Given the description of an element on the screen output the (x, y) to click on. 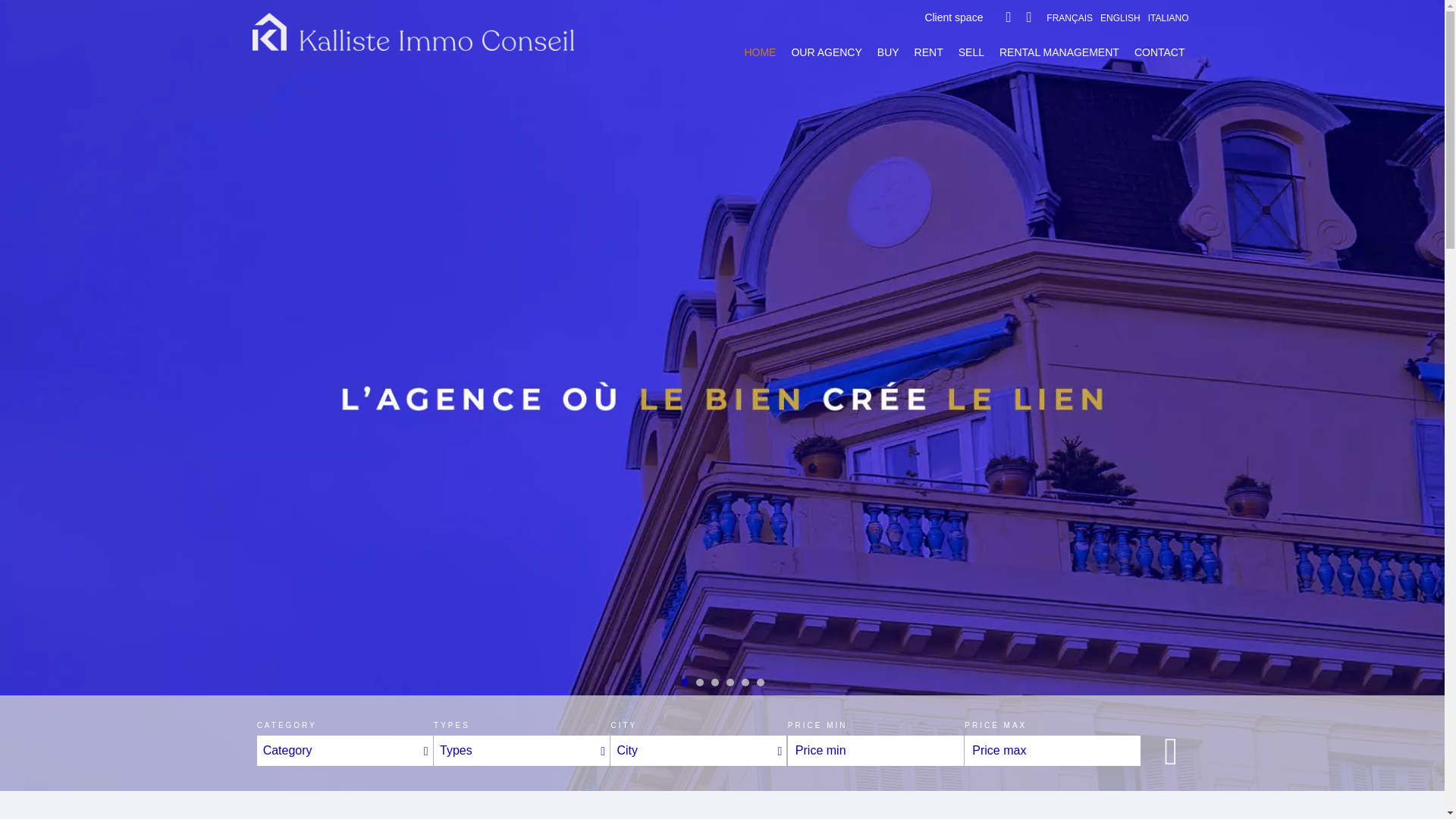
ITALIANO (1168, 16)
Category (344, 750)
RENT (928, 51)
RENTAL MANAGEMENT (1058, 51)
ENGLISH (1120, 16)
City (698, 750)
HOME (760, 51)
OUR AGENCY (825, 51)
Types (521, 750)
CONTACT (1159, 51)
SELL (971, 51)
BUY (888, 51)
Client space (953, 17)
